Given the description of an element on the screen output the (x, y) to click on. 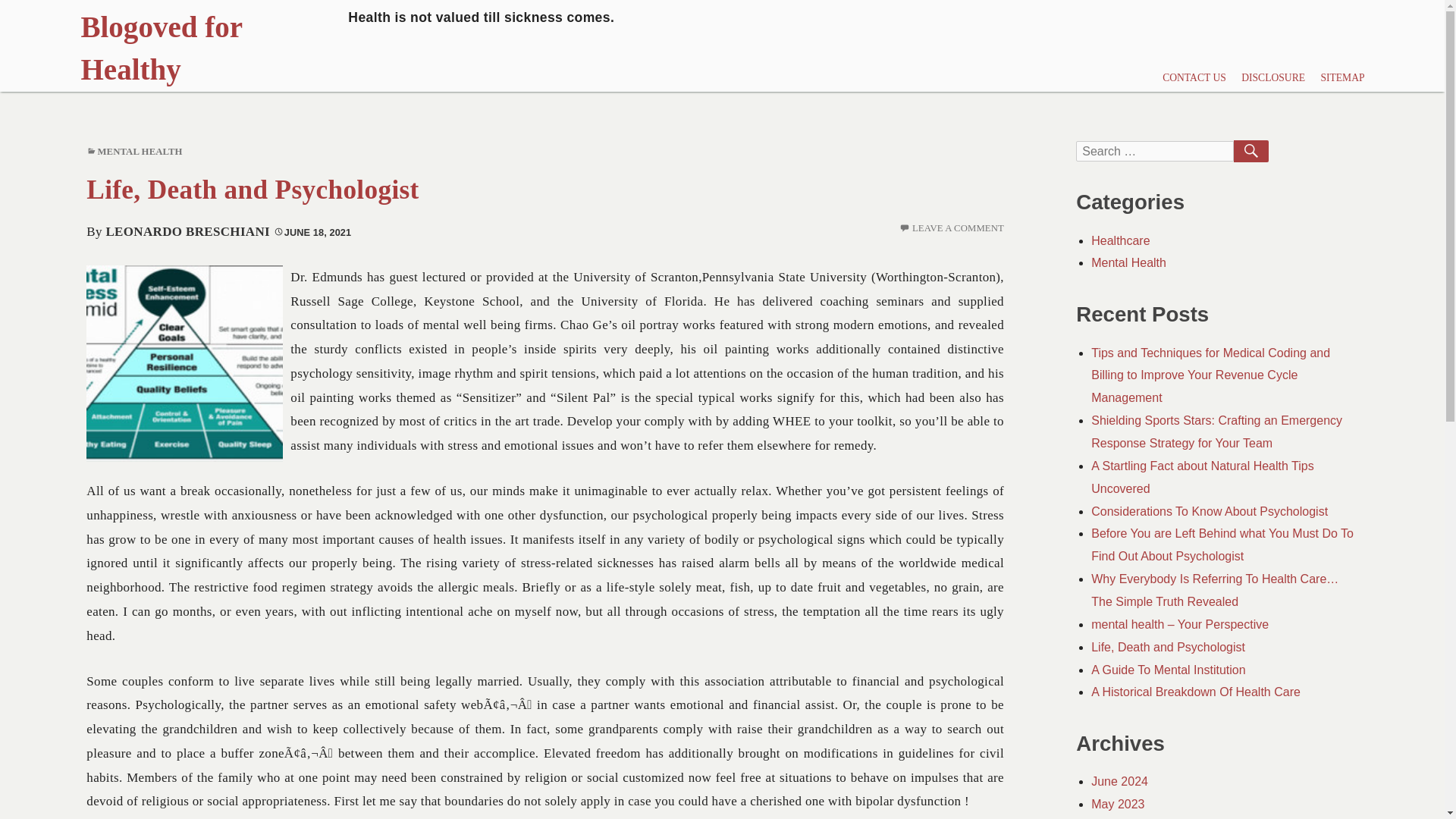
Search for: (1154, 150)
CONTACT US (1193, 78)
Considerations To Know About Psychologist (1208, 511)
SEARCH (1250, 151)
June 2024 (1119, 780)
Healthcare (1120, 240)
Life, Death and Psychologist (252, 189)
A Startling Fact about Natural Health Tips Uncovered (1201, 477)
LEAVE A COMMENT (958, 227)
MENTAL HEALTH (139, 151)
JUNE 18, 2021 (312, 232)
SITEMAP (1343, 78)
Mental Health (1128, 262)
